Given the description of an element on the screen output the (x, y) to click on. 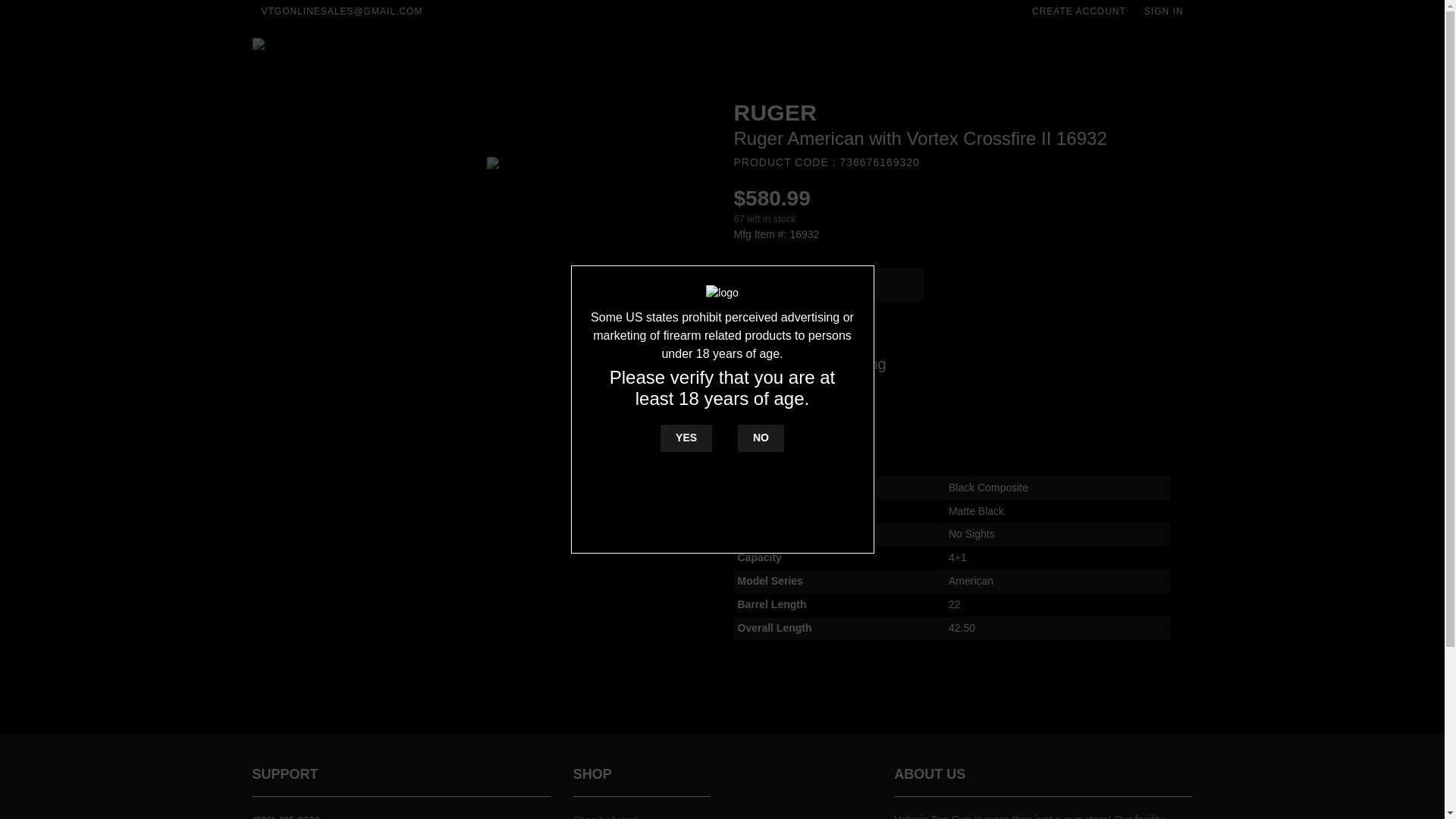
SIGN IN (1163, 11)
CREATE ACCOUNT (1079, 11)
